Given the description of an element on the screen output the (x, y) to click on. 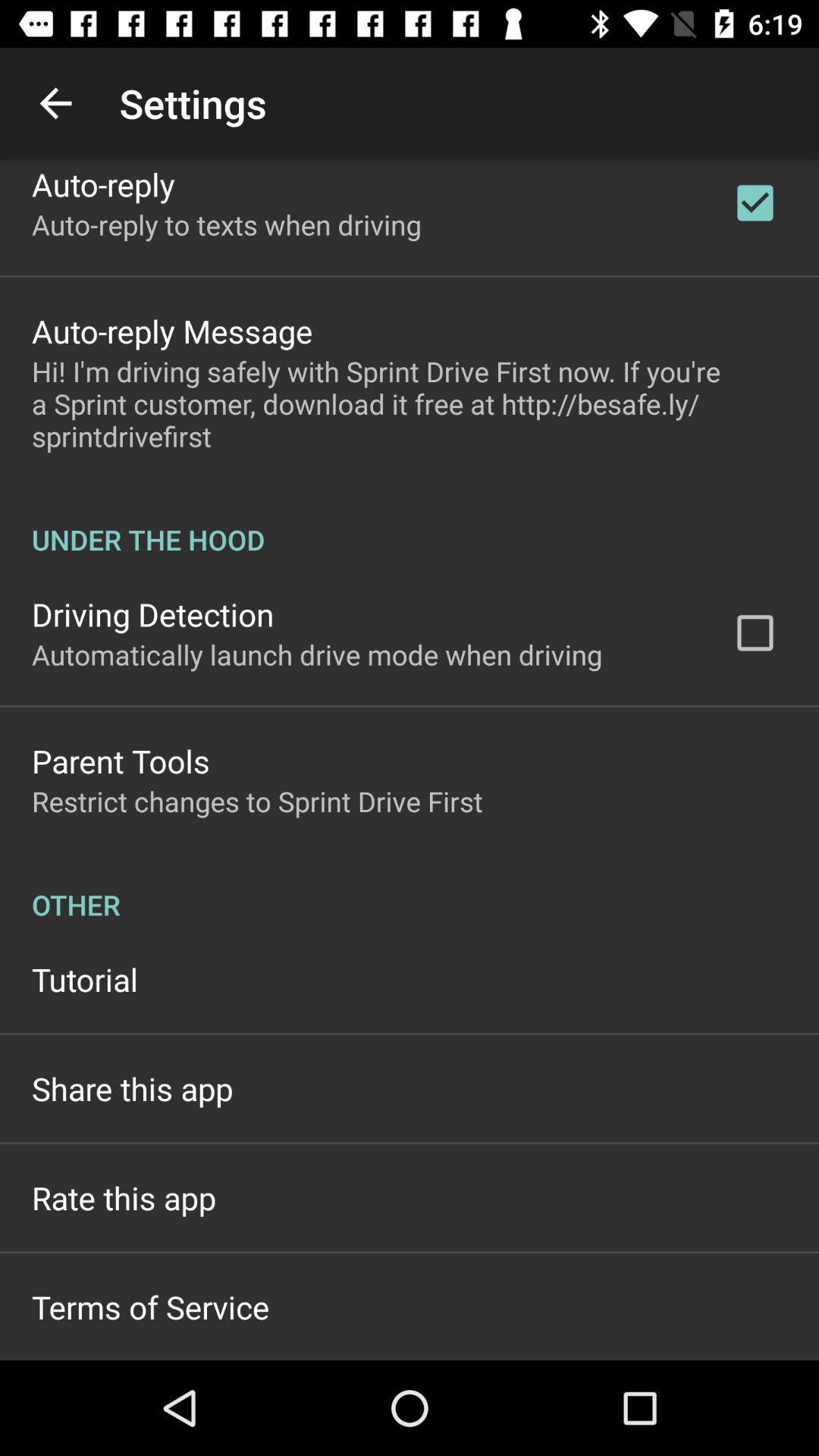
press icon below parent tools (256, 801)
